Given the description of an element on the screen output the (x, y) to click on. 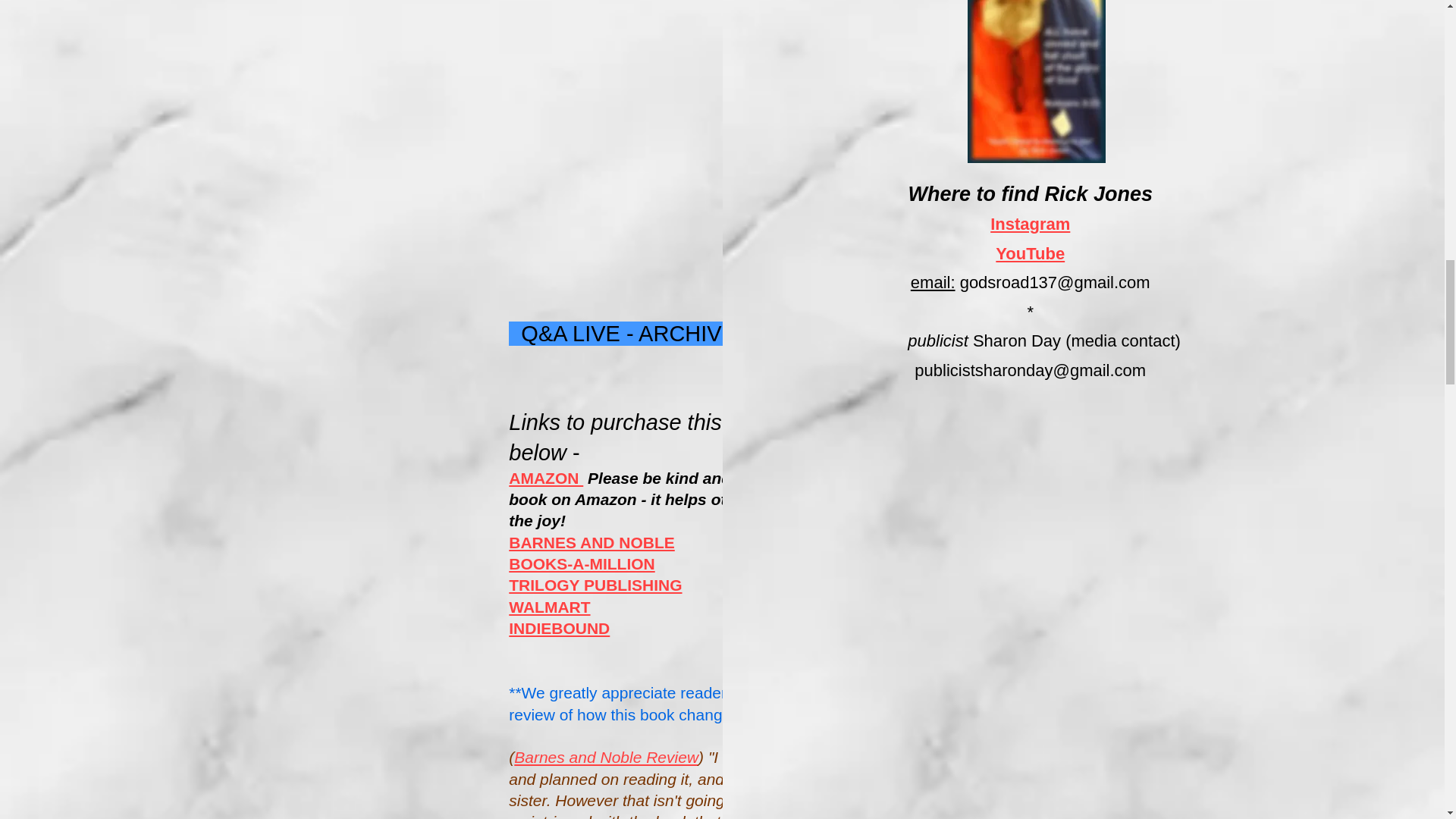
Barnes and Noble Review (605, 756)
BARNES AND NOBLE (591, 542)
BOOKS-A-MILLION (580, 563)
Instagram (1030, 223)
LINK  (785, 333)
WALMART (548, 606)
INDIEBOUND (559, 628)
TRILOGY PUBLISHING (594, 584)
AMAZON  Please be kind and review the (660, 477)
YouTube (1029, 253)
